Given the description of an element on the screen output the (x, y) to click on. 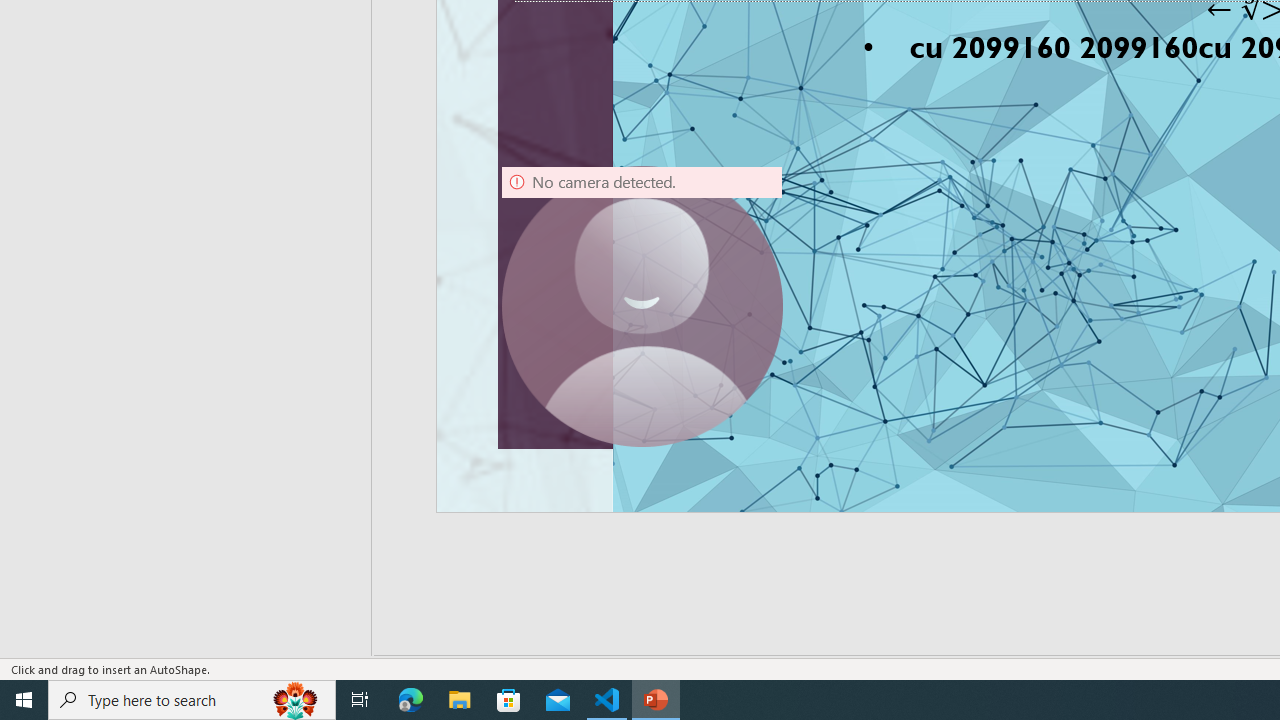
Camera 9, No camera detected. (641, 306)
